Given the description of an element on the screen output the (x, y) to click on. 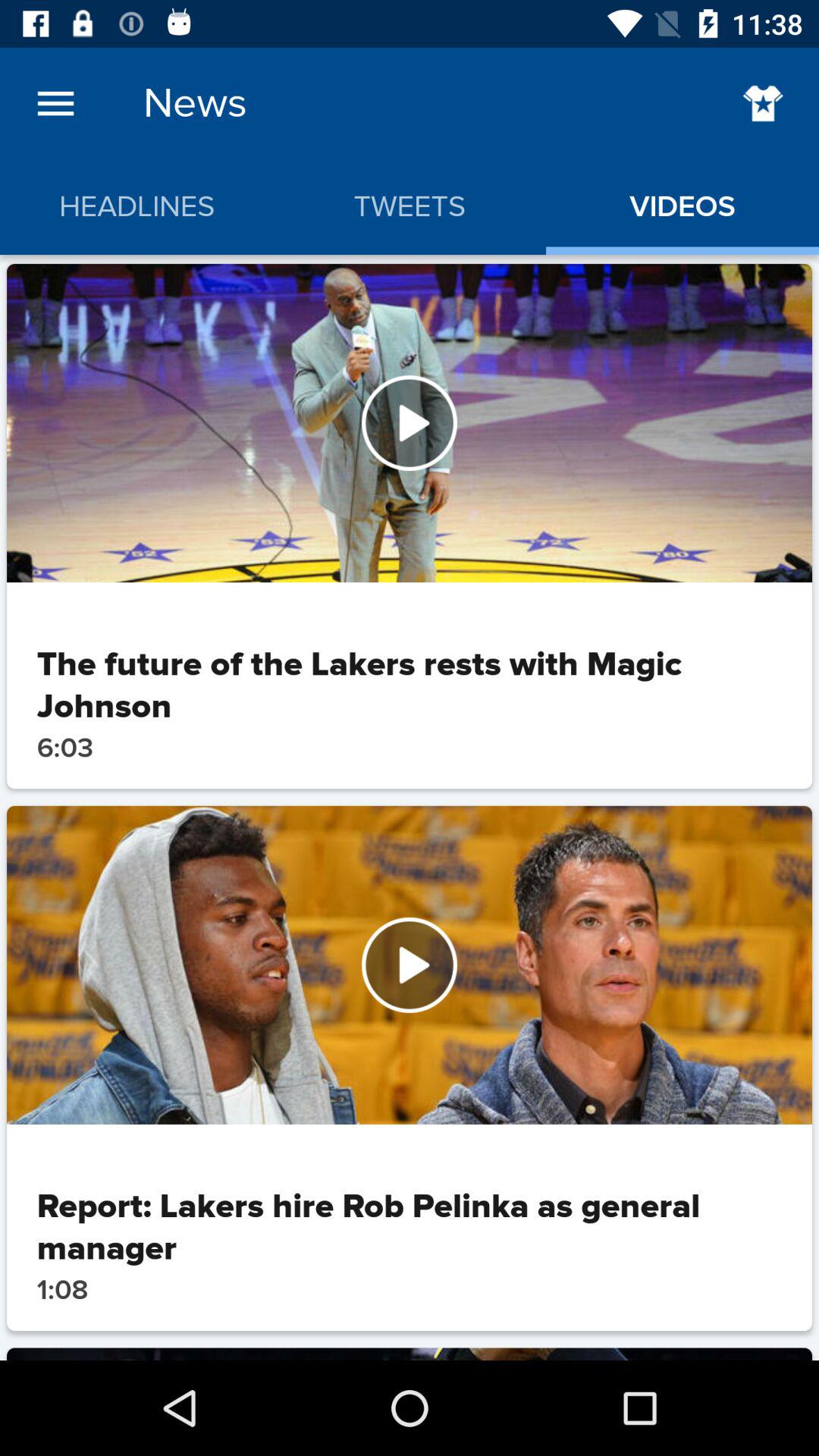
play video (409, 422)
